Given the description of an element on the screen output the (x, y) to click on. 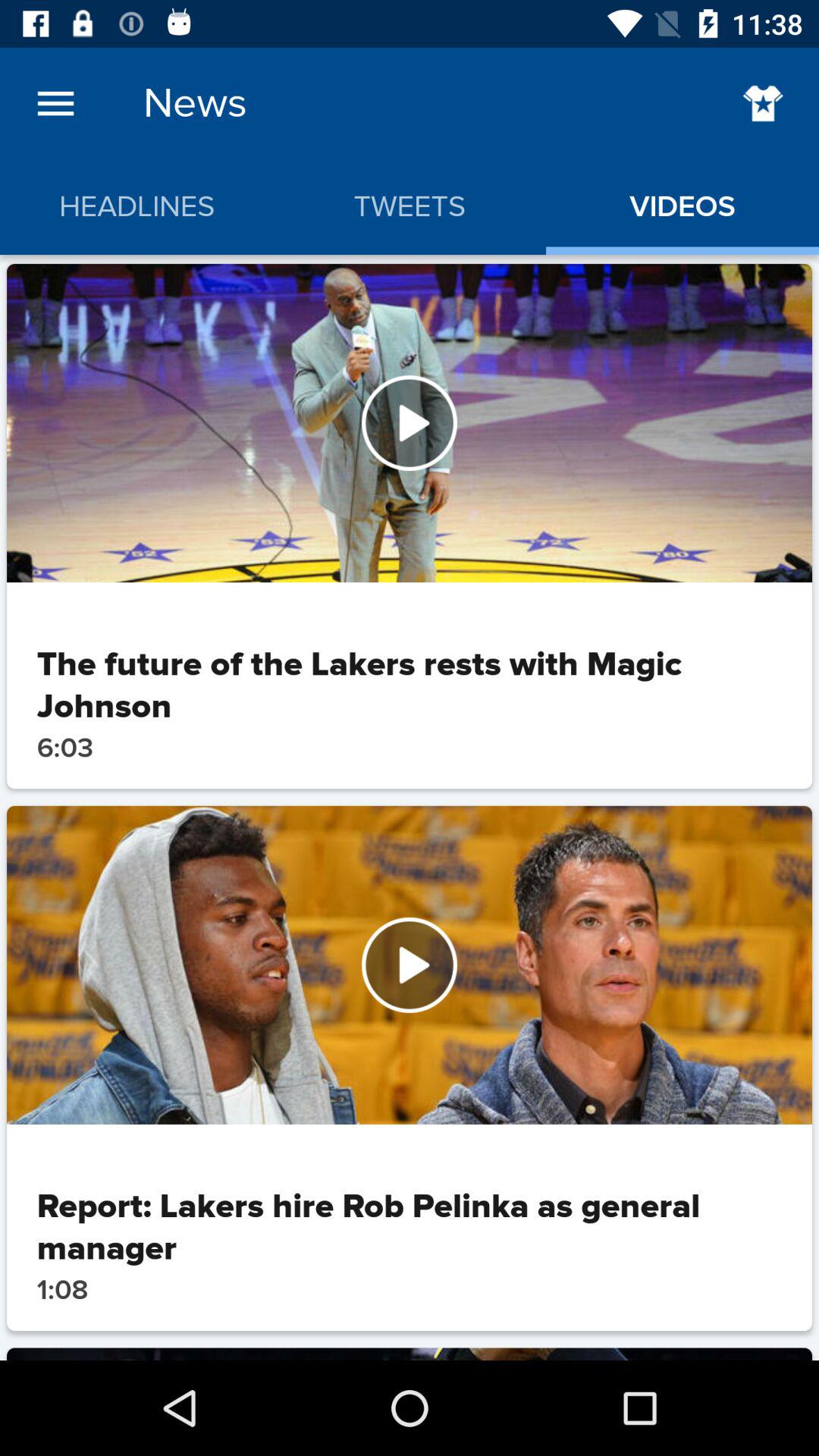
play video (409, 422)
